Given the description of an element on the screen output the (x, y) to click on. 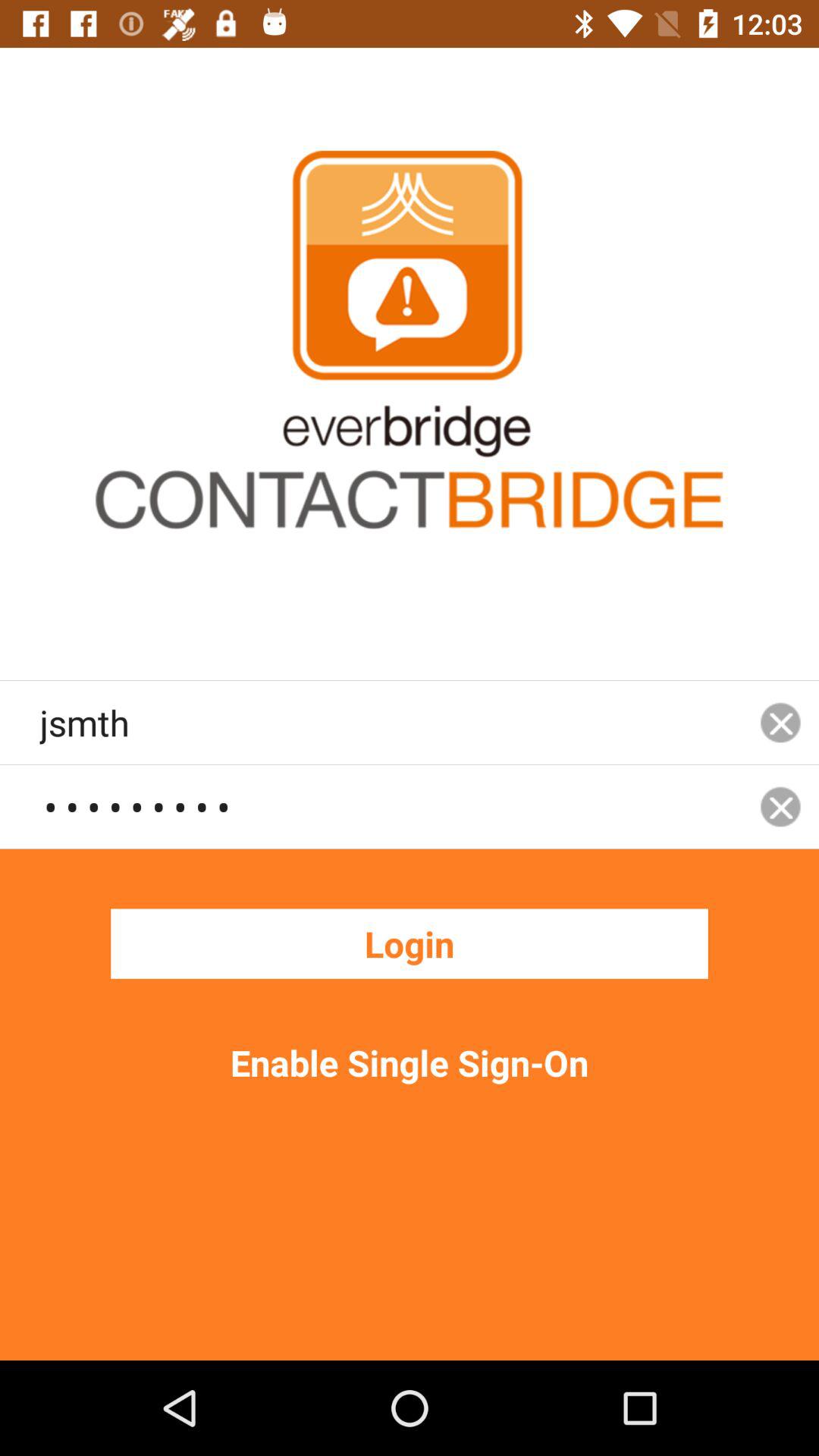
choose the icon to the right of jsmth (780, 806)
